Given the description of an element on the screen output the (x, y) to click on. 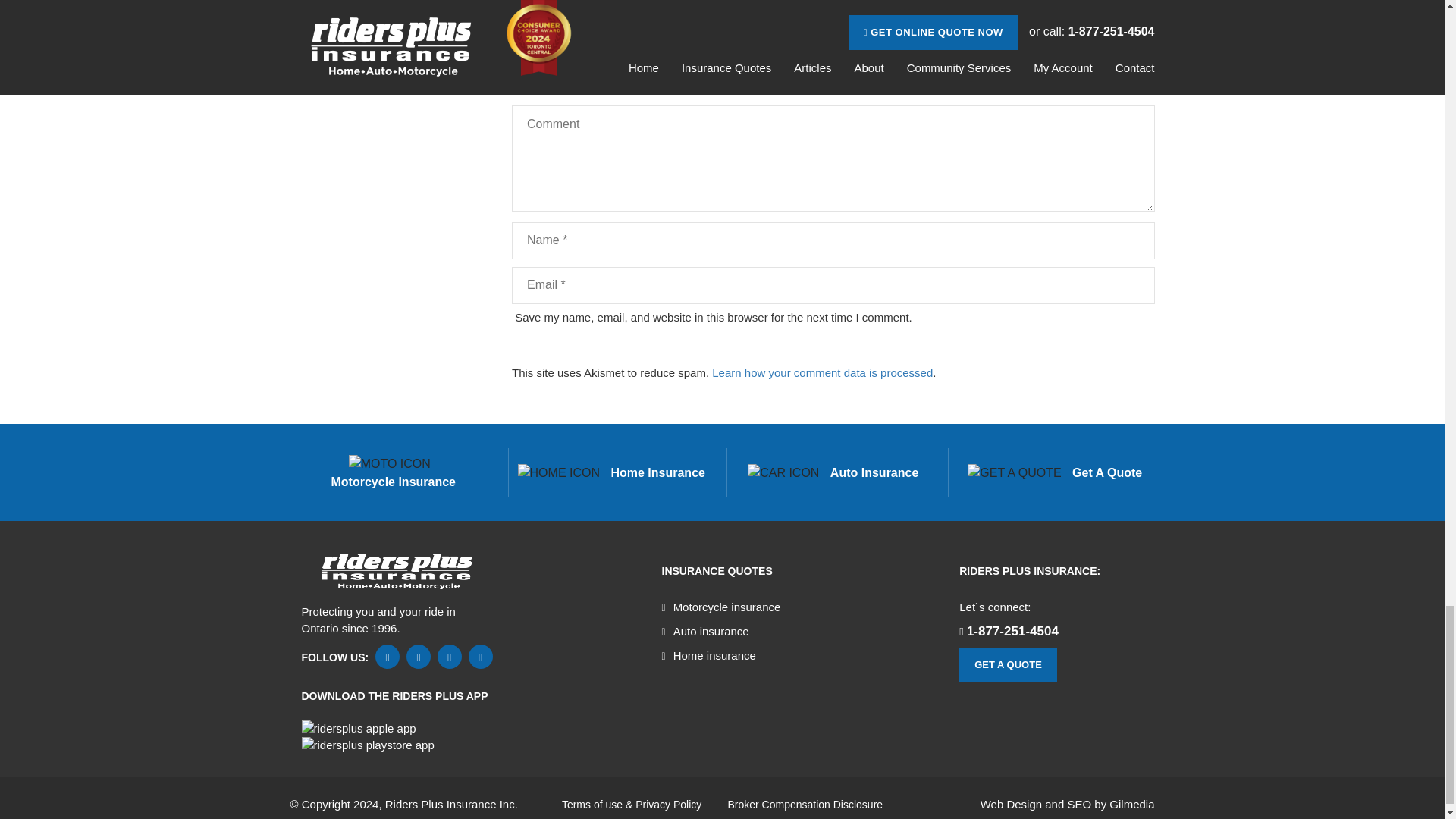
Learn how your comment data is processed (822, 372)
Reply (863, 1)
Submit (1116, 346)
Twitter (386, 656)
Submit (1116, 346)
Linkedin (449, 656)
Facebook (418, 656)
Instagram (480, 656)
